Given the description of an element on the screen output the (x, y) to click on. 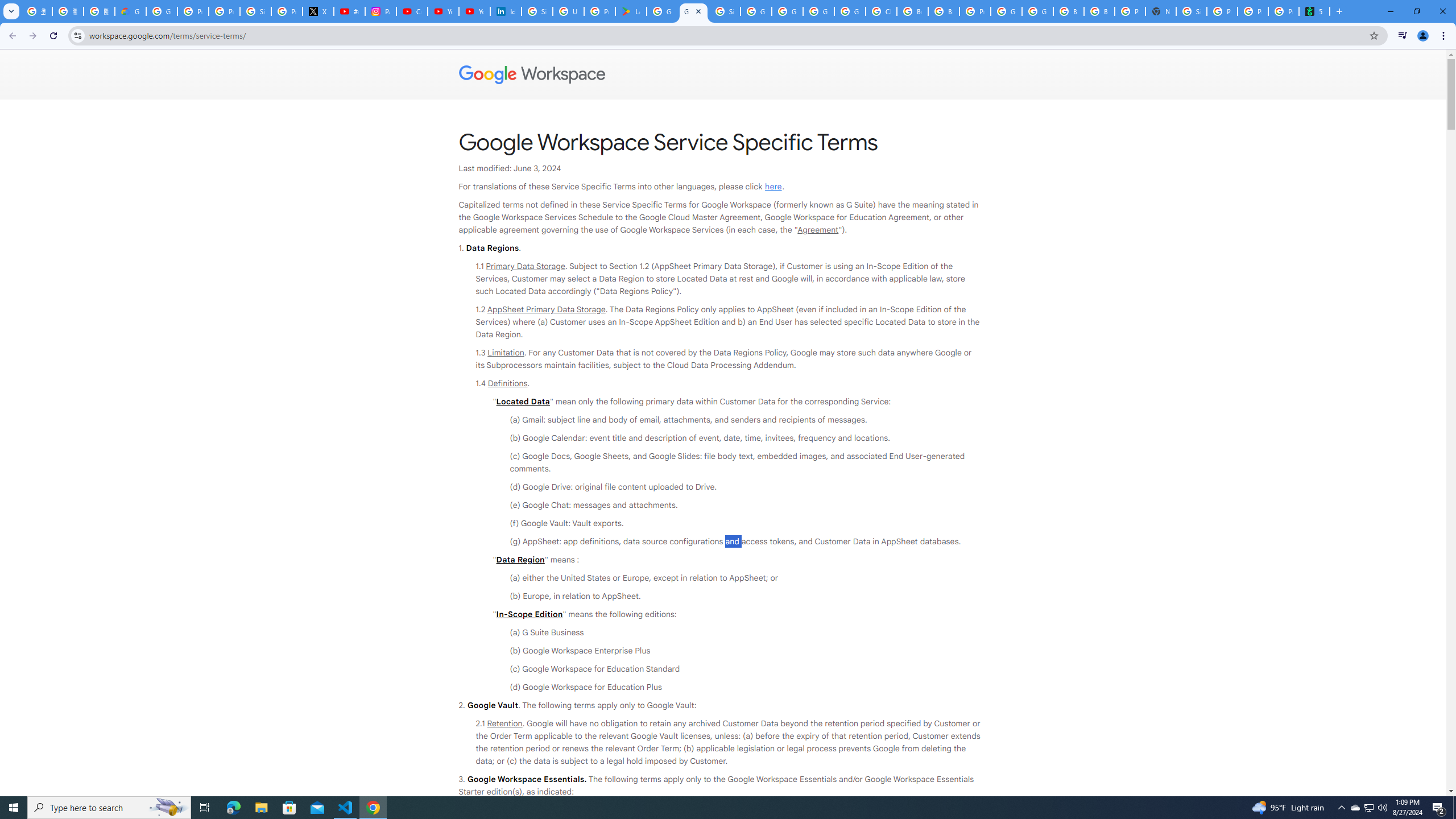
Close (698, 11)
Privacy Help Center - Policies Help (223, 11)
Google Workspace - Specific Terms (693, 11)
Back (10, 35)
Sign in - Google Accounts (536, 11)
Sign in - Google Accounts (1190, 11)
Sign in - Google Accounts (724, 11)
Browse Chrome as a guest - Computer - Google Chrome Help (912, 11)
